Given the description of an element on the screen output the (x, y) to click on. 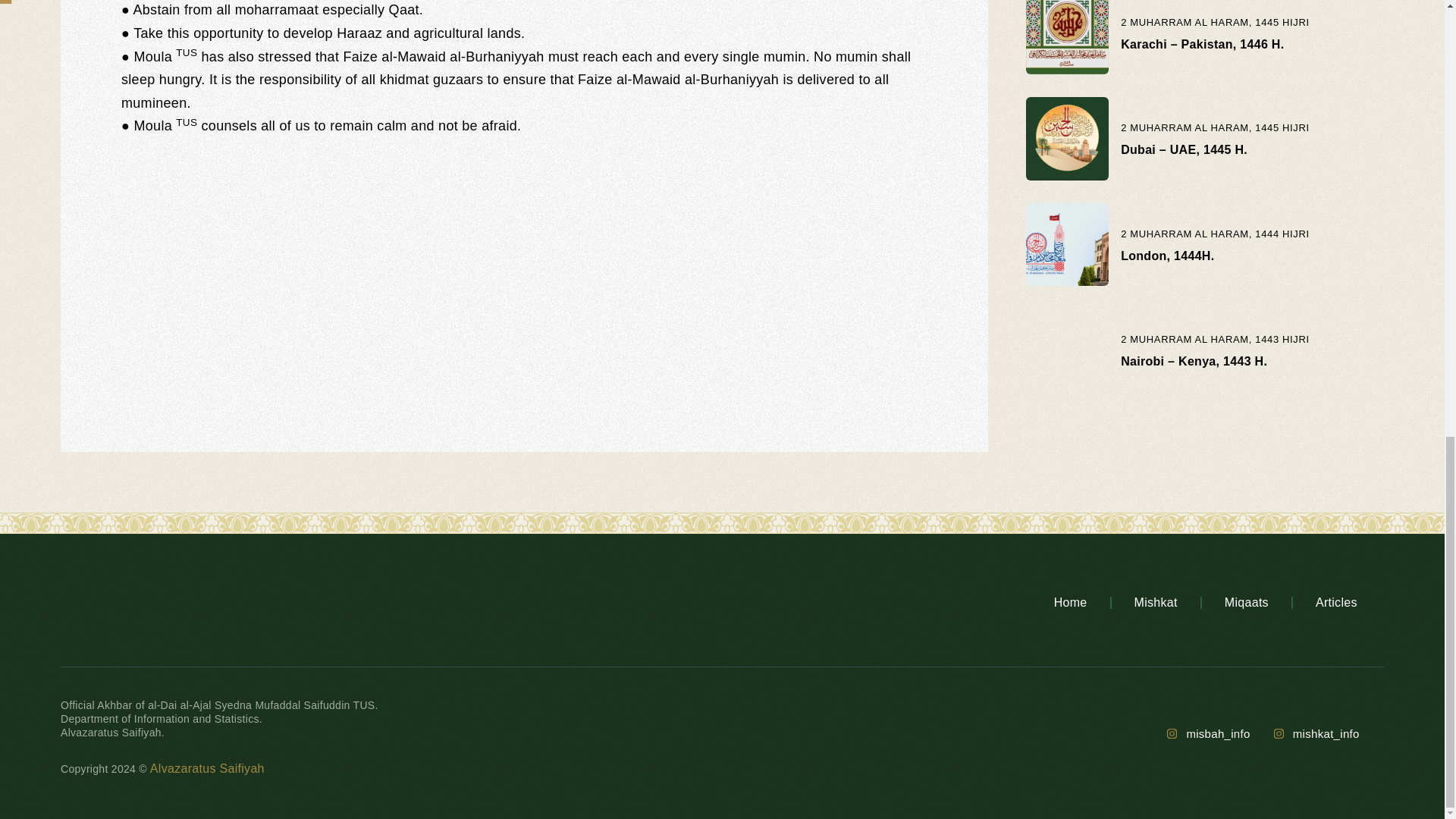
Home (1070, 602)
Articles (1336, 602)
London, 1444H. (1167, 255)
Miqaats (1246, 602)
Mishkat (1155, 602)
